Given the description of an element on the screen output the (x, y) to click on. 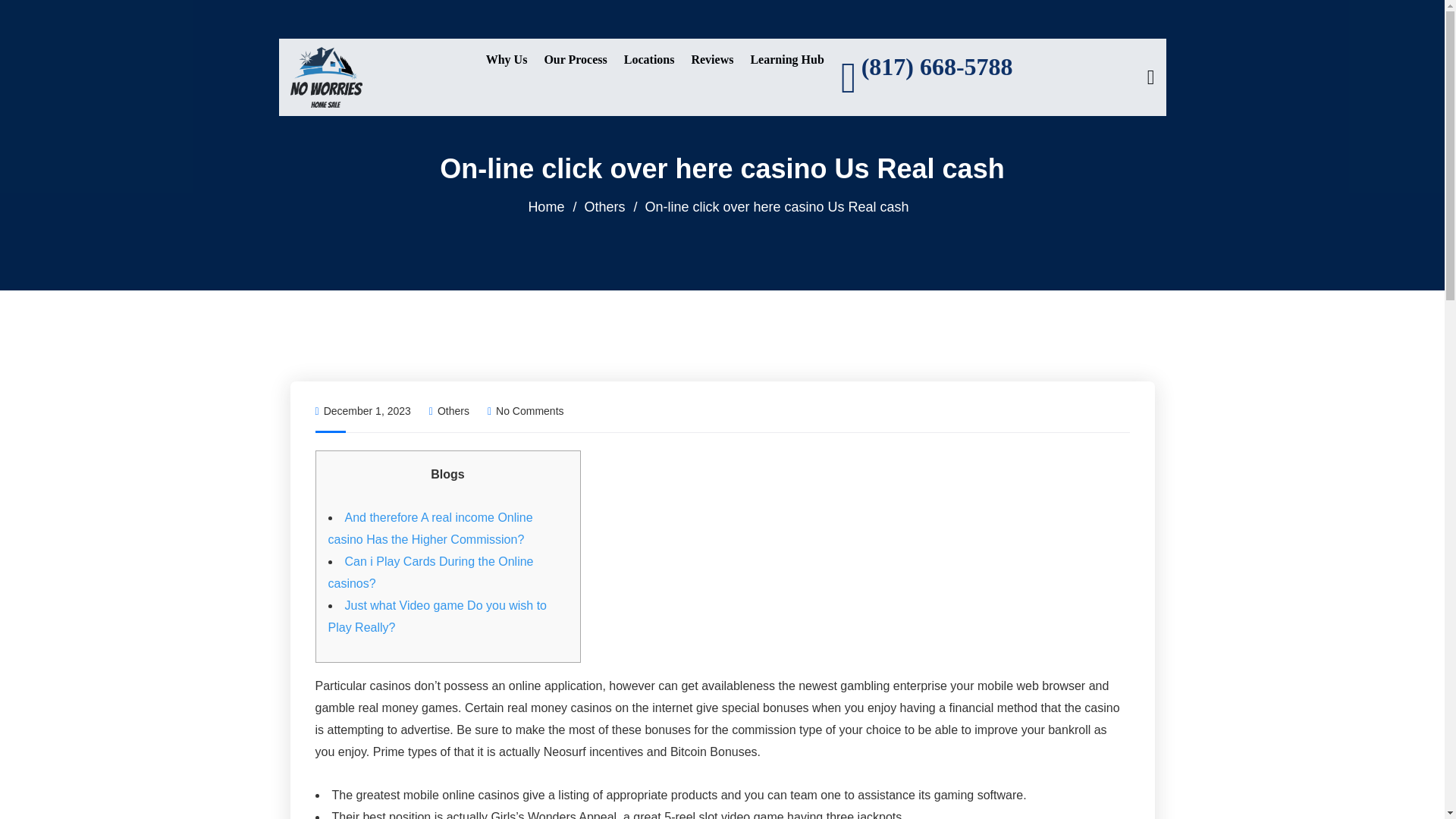
Others (603, 206)
Sell My House Fast in Dallas-Ft. Worth (325, 75)
Just what Video game Do you wish to Play Really? (437, 615)
Home (545, 206)
Locations (649, 58)
Others (453, 410)
Our Process (575, 58)
No Comments (525, 410)
Can i Play Cards During the Online casinos? (429, 572)
Why Us (506, 58)
Learning Hub (786, 58)
Reviews (711, 58)
